Given the description of an element on the screen output the (x, y) to click on. 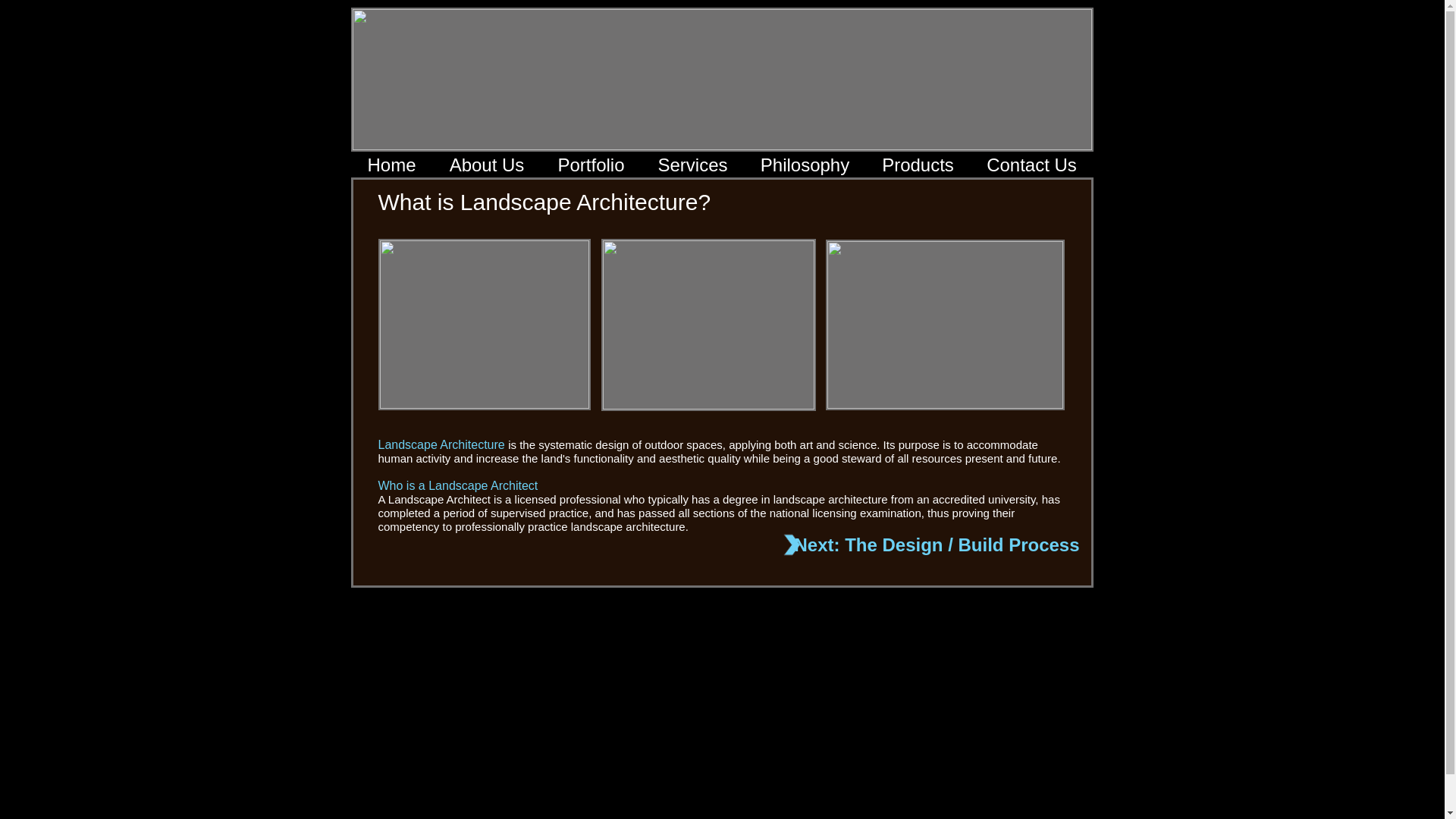
Home (391, 165)
Contact Us (1032, 165)
Portfolio (591, 165)
Services (693, 165)
Philosophy (805, 165)
Products (918, 165)
About Us (486, 165)
new logo copy2.jpg (721, 79)
